Given the description of an element on the screen output the (x, y) to click on. 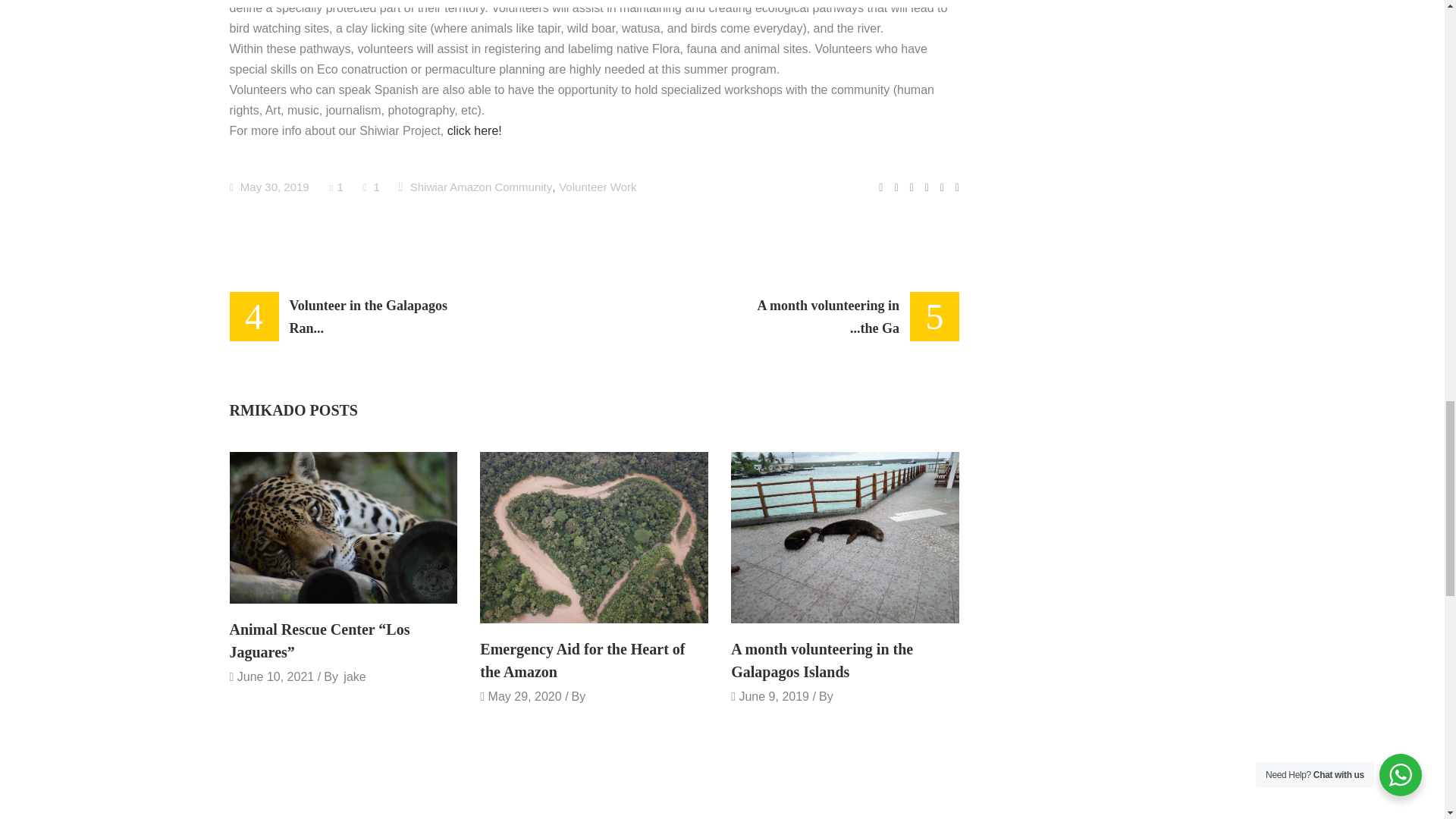
May 30, 2019 (268, 186)
A month volunteering in the Galapagos Islands (821, 660)
1 (338, 186)
Emergency Aid for the Heart of the Amazon (593, 537)
Volunteer Work (597, 186)
Like this (338, 186)
A month volunteering in the Galapagos Islands (844, 537)
Shiwiar Amazon Community (481, 186)
1 (371, 186)
click here! (474, 130)
Emergency Aid for the Heart of the Amazon (582, 660)
